Given the description of an element on the screen output the (x, y) to click on. 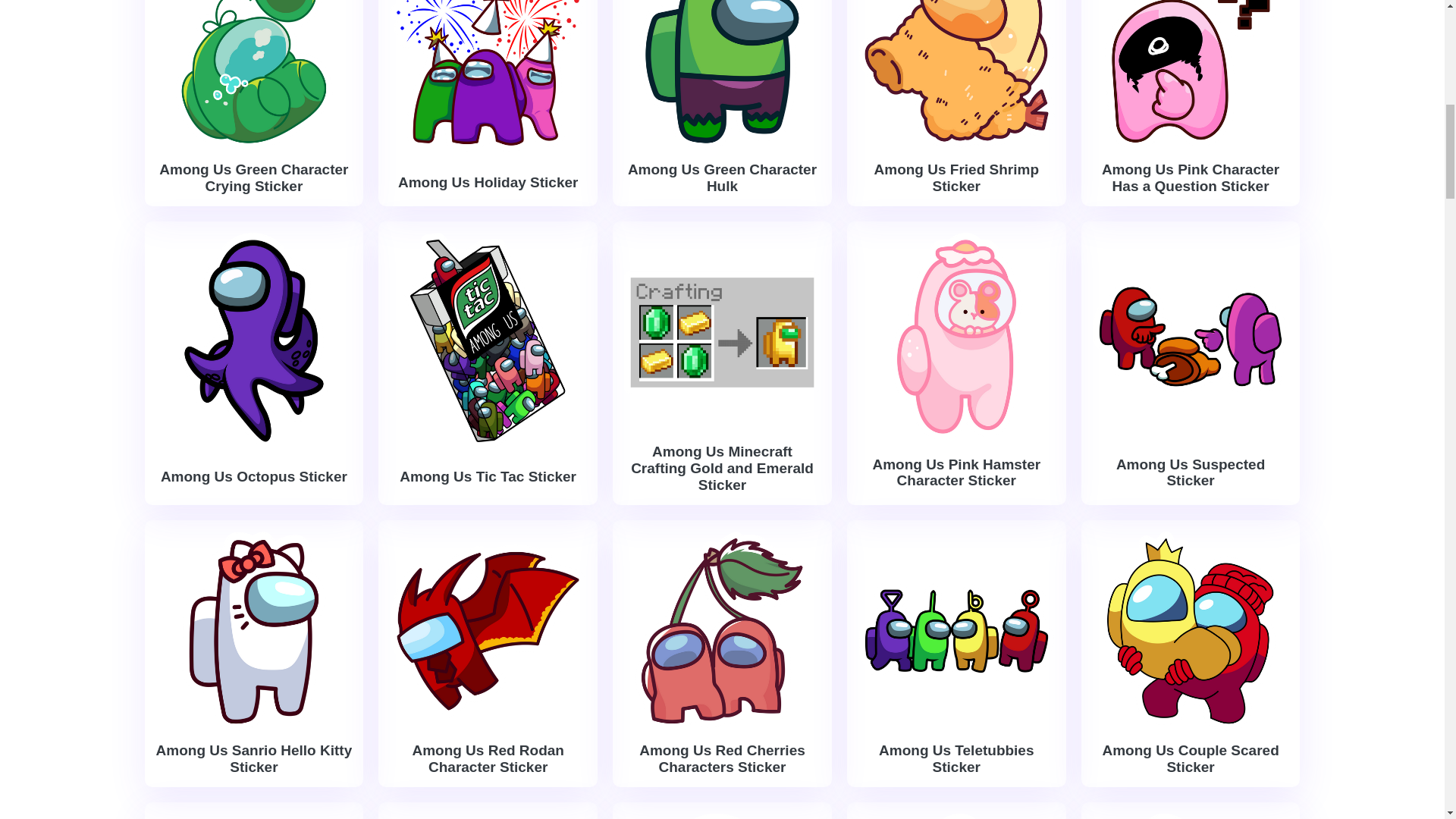
Among Us Green Character Crying Sticker (253, 177)
